Given the description of an element on the screen output the (x, y) to click on. 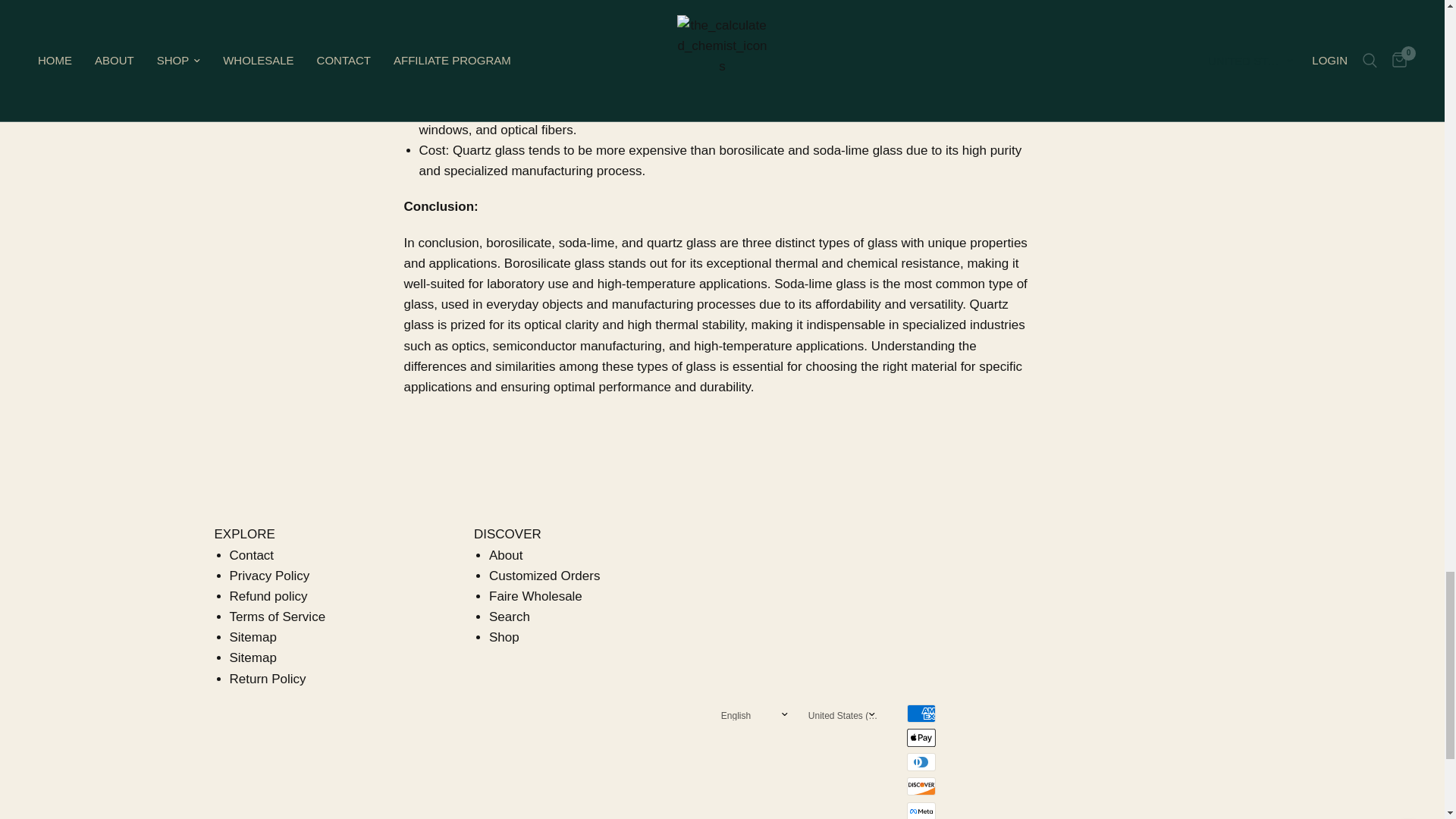
Privacy Policy (268, 575)
Return Policy (266, 678)
Refund policy (267, 595)
Apple Pay (921, 737)
Diners Club (921, 761)
Contact (250, 554)
Meta Pay (921, 810)
Sitemap (252, 657)
Customized Orders (544, 575)
Terms of Service (276, 616)
